Given the description of an element on the screen output the (x, y) to click on. 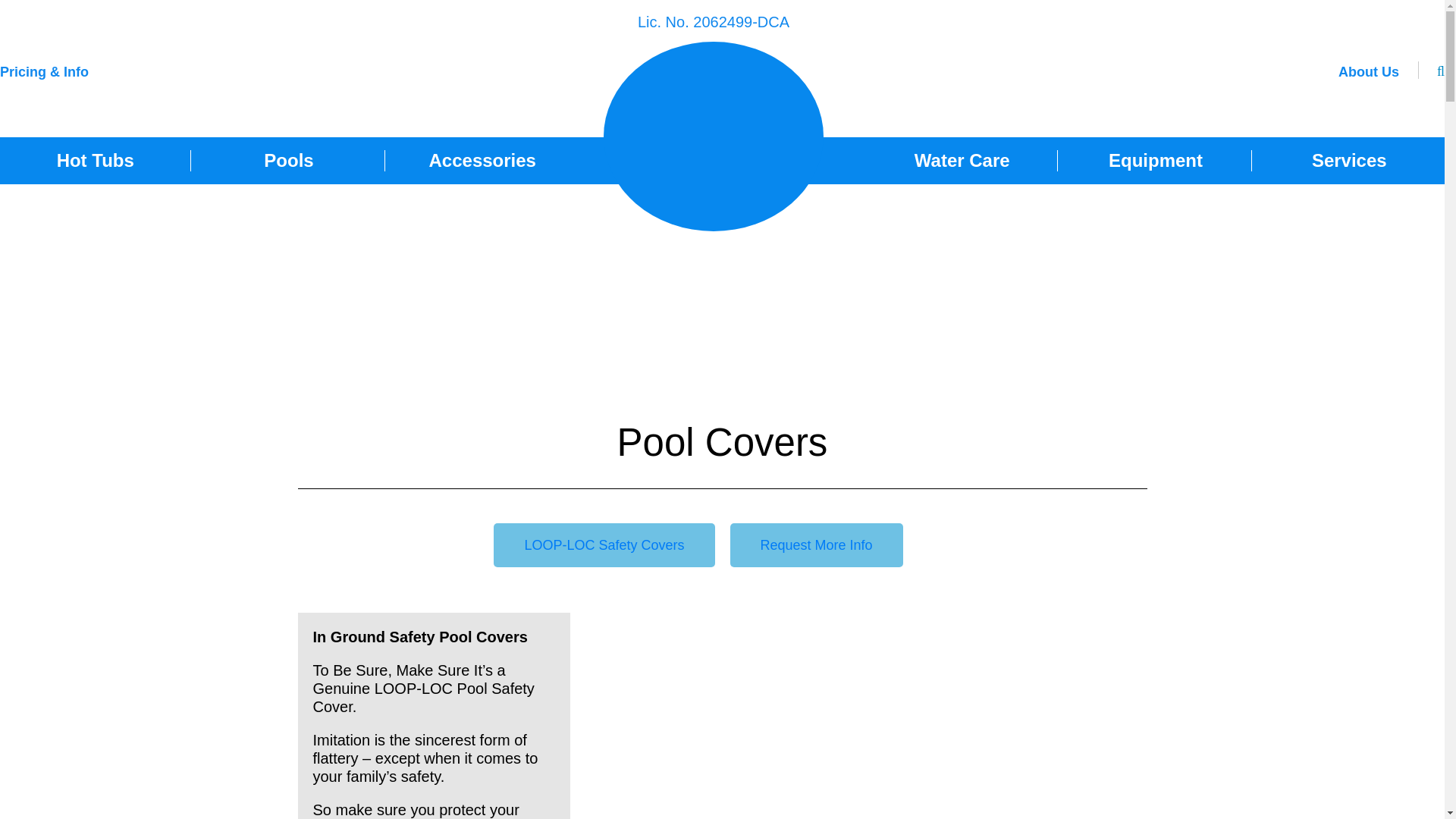
Hot Tubs (95, 160)
About Us (1368, 75)
Pools (288, 160)
